Given the description of an element on the screen output the (x, y) to click on. 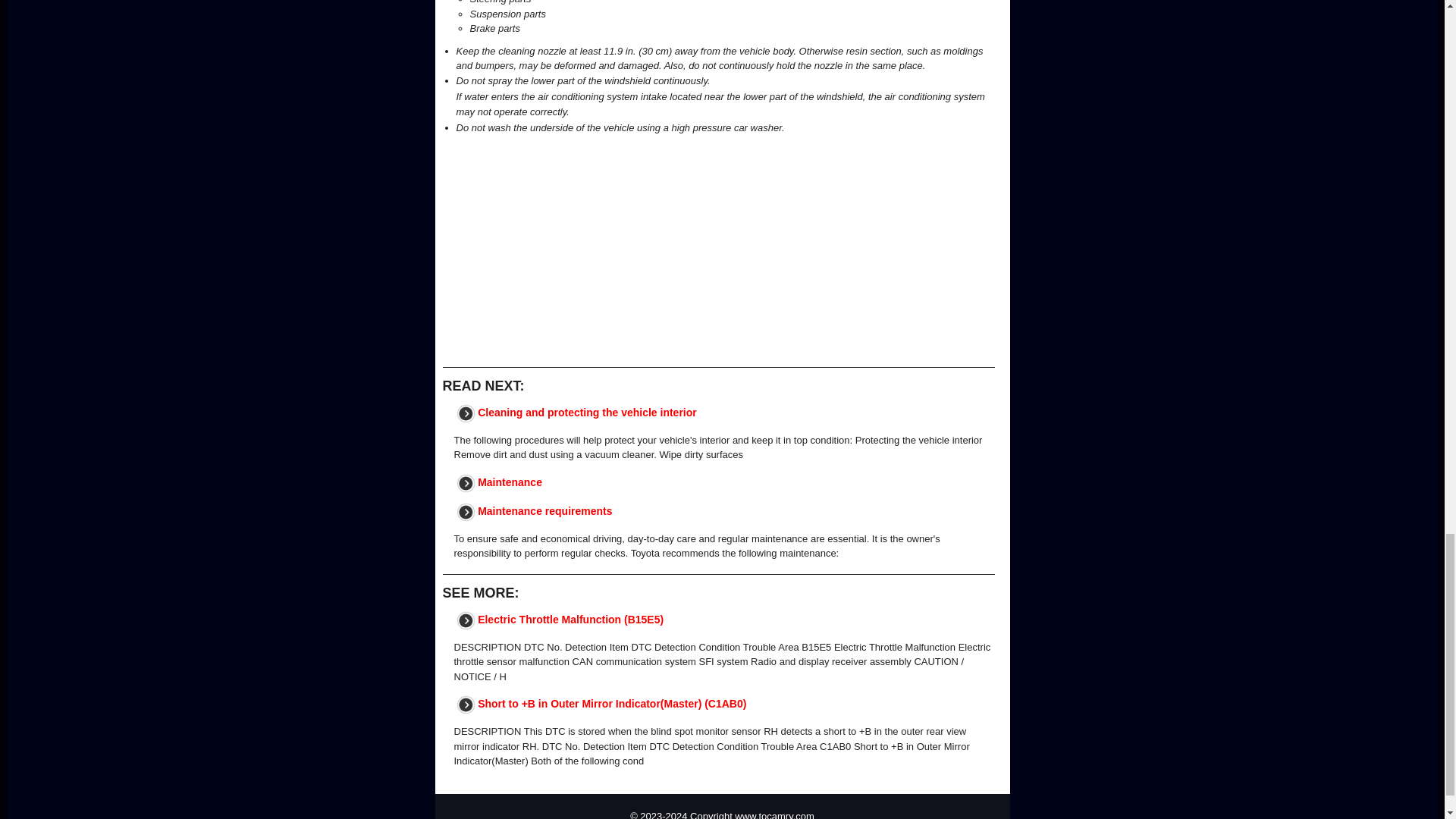
Maintenance requirements (544, 510)
Cleaning and protecting the vehicle interior (587, 411)
Maintenance (509, 481)
